Given the description of an element on the screen output the (x, y) to click on. 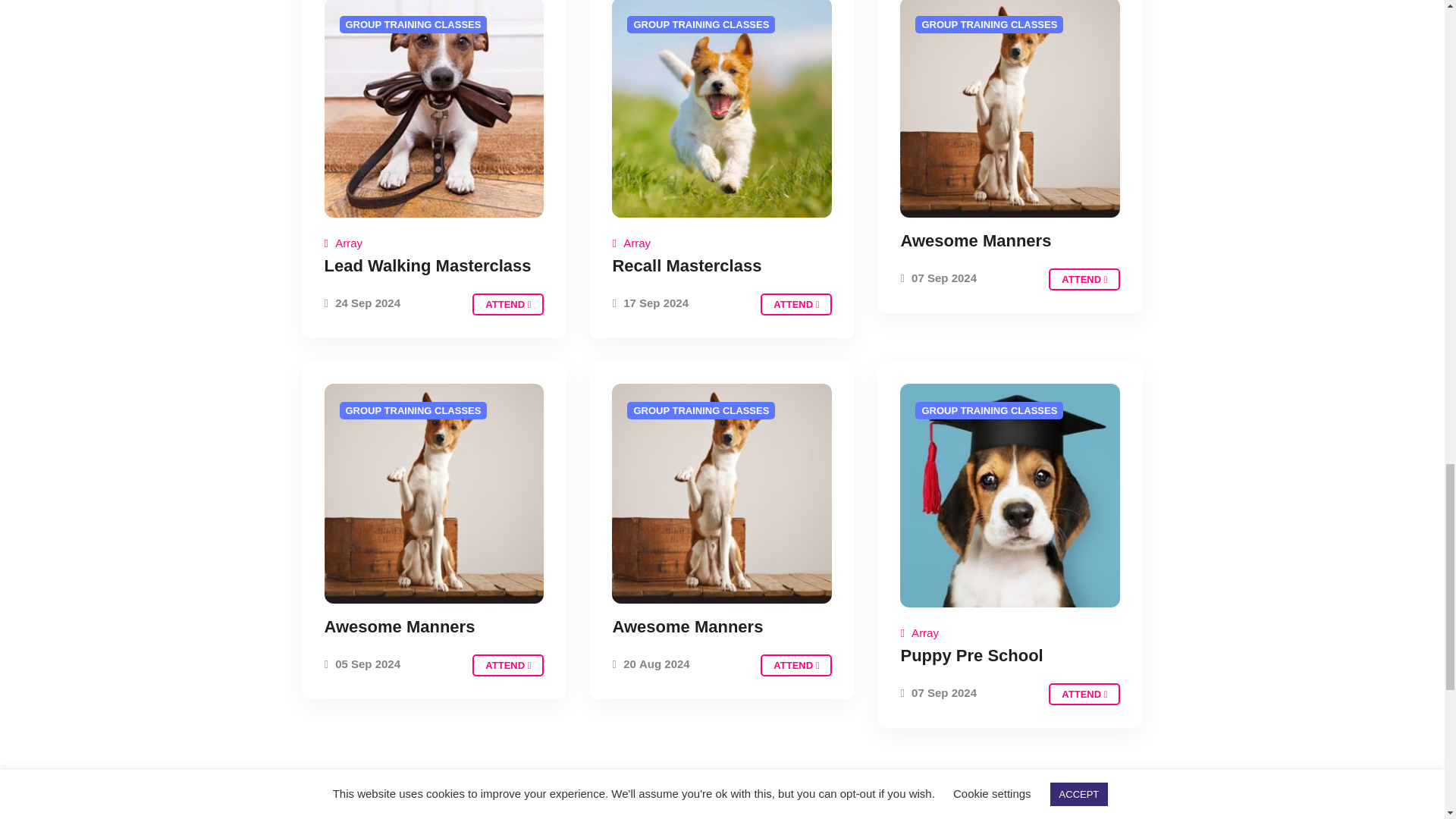
Awesome Manners (686, 626)
Awesome Manners (507, 665)
ATTEND (1083, 279)
ATTEND (795, 304)
Recall Masterclass (795, 304)
Puppy Pre School (970, 655)
Lead Walking Masterclass (507, 304)
Awesome Manners (795, 665)
ATTEND (507, 304)
Lead Walking Masterclass (427, 265)
ATTEND (507, 665)
ATTEND (1083, 694)
Puppy Pre School (1083, 694)
Awesome Manners (975, 240)
Recall Masterclass (686, 265)
